Given the description of an element on the screen output the (x, y) to click on. 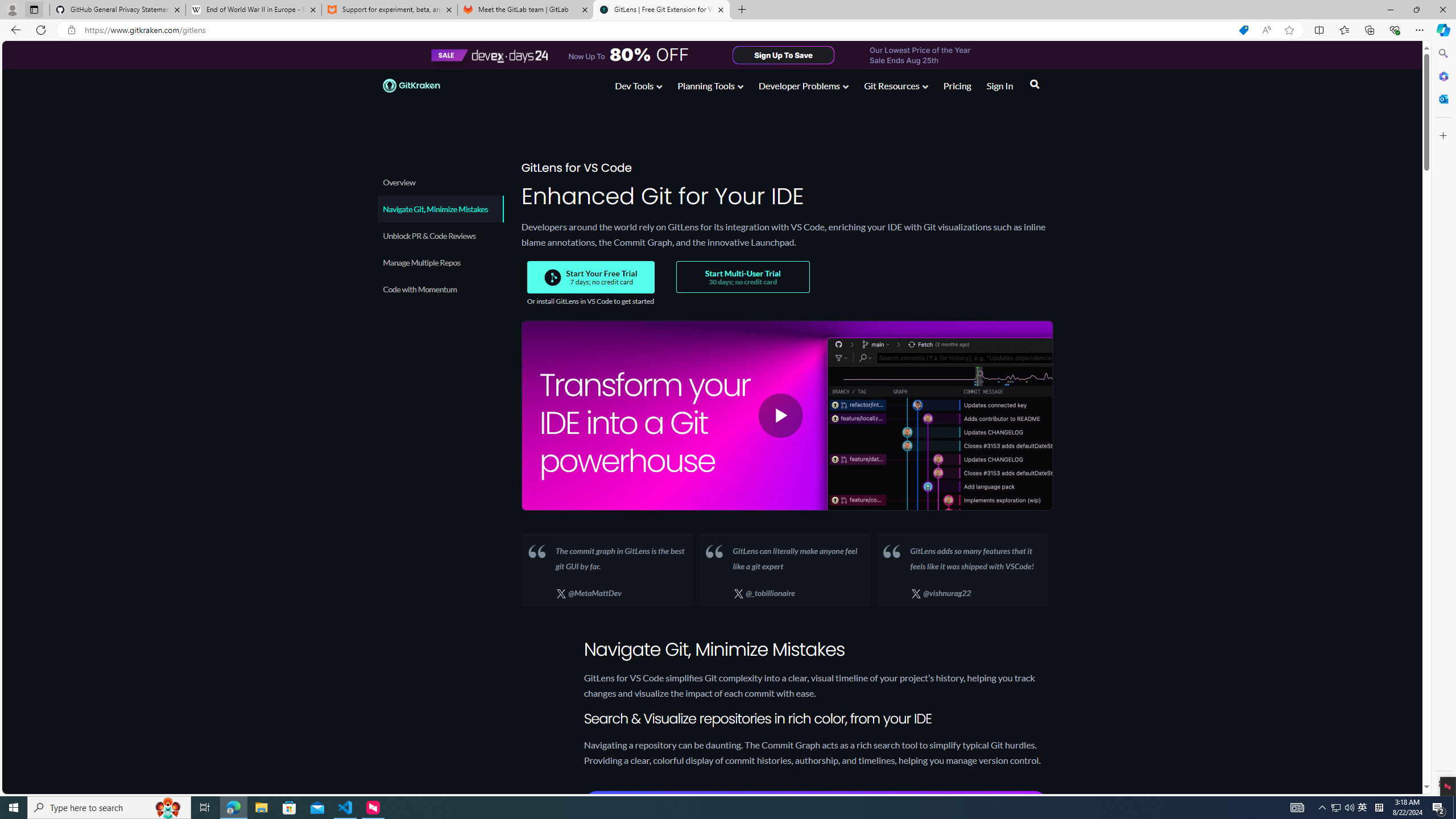
Pricing (957, 85)
Or install GitLens in VS Code to get started (590, 300)
Overview (440, 181)
Unblock PR & Code Reviews (440, 235)
